Given the description of an element on the screen output the (x, y) to click on. 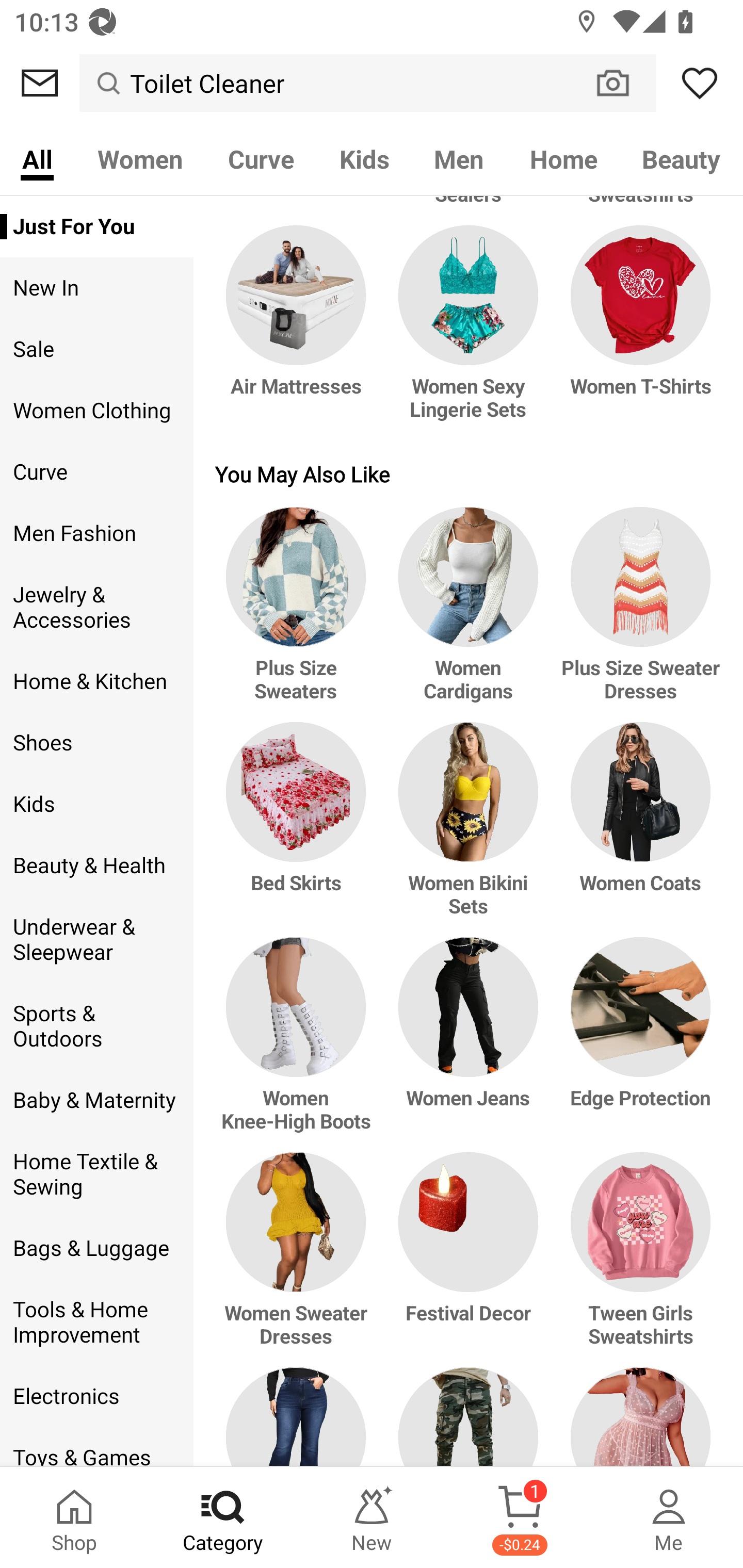
Wishlist (699, 82)
VISUAL SEARCH (623, 82)
All (37, 158)
Women (139, 158)
Curve (260, 158)
Kids (363, 158)
Men (458, 158)
Home (563, 158)
Beauty (681, 158)
Just For You (96, 226)
Air Mattresses (299, 332)
Women Sexy Lingerie Sets (468, 332)
Women T-Shirts (636, 332)
New In (96, 287)
Sale (96, 348)
Women Clothing (96, 410)
You May Also Like (468, 473)
Curve (96, 472)
Men Fashion (96, 533)
Plus Size Sweaters (299, 614)
Women Cardigans (468, 614)
Plus Size Sweater Dresses (636, 614)
Jewelry & Accessories (96, 607)
Home & Kitchen (96, 680)
Shoes (96, 742)
Bed Skirts (299, 829)
Women Bikini Sets (468, 829)
Women Coats (636, 829)
Kids (96, 804)
Beauty & Health (96, 865)
Underwear & Sleepwear (96, 939)
Women Knee-High Boots (299, 1044)
Women Jeans (468, 1044)
Edge Protection (636, 1044)
Sports & Outdoors (96, 1026)
Baby & Maternity (96, 1099)
Home Textile & Sewing (96, 1174)
Women Sweater Dresses (299, 1259)
Festival Decor (468, 1259)
Tween Girls Sweatshirts (636, 1259)
Bags & Luggage (96, 1248)
Tools & Home Improvement (96, 1322)
Electronics (96, 1395)
Toys & Games (96, 1446)
Shop (74, 1517)
New (371, 1517)
Cart 1 -$0.24 (519, 1517)
Me (668, 1517)
